Given the description of an element on the screen output the (x, y) to click on. 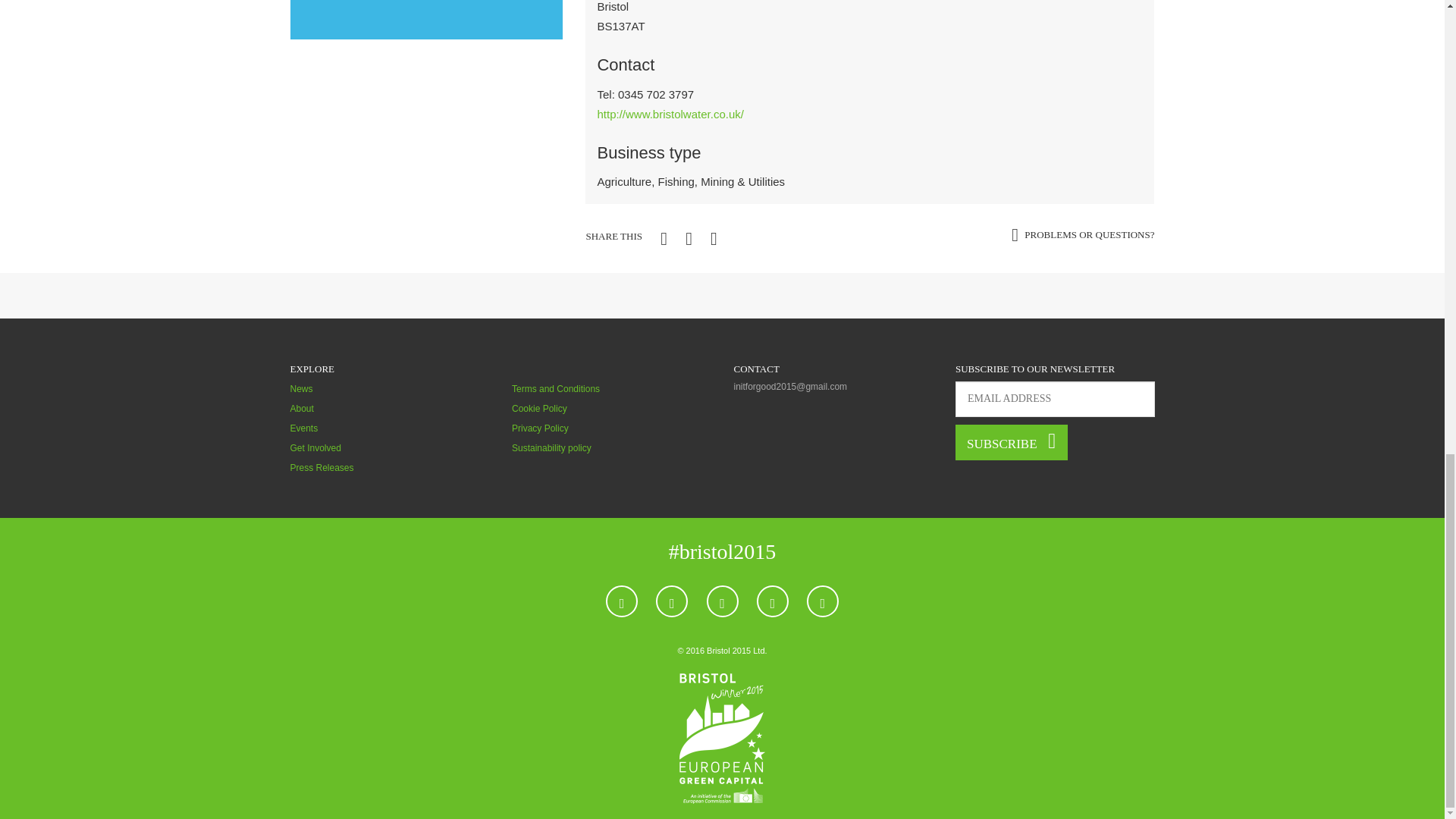
YouTube (722, 601)
Facebook (621, 601)
Instagram (773, 601)
Twitter (671, 601)
RSS feed (822, 601)
